Given the description of an element on the screen output the (x, y) to click on. 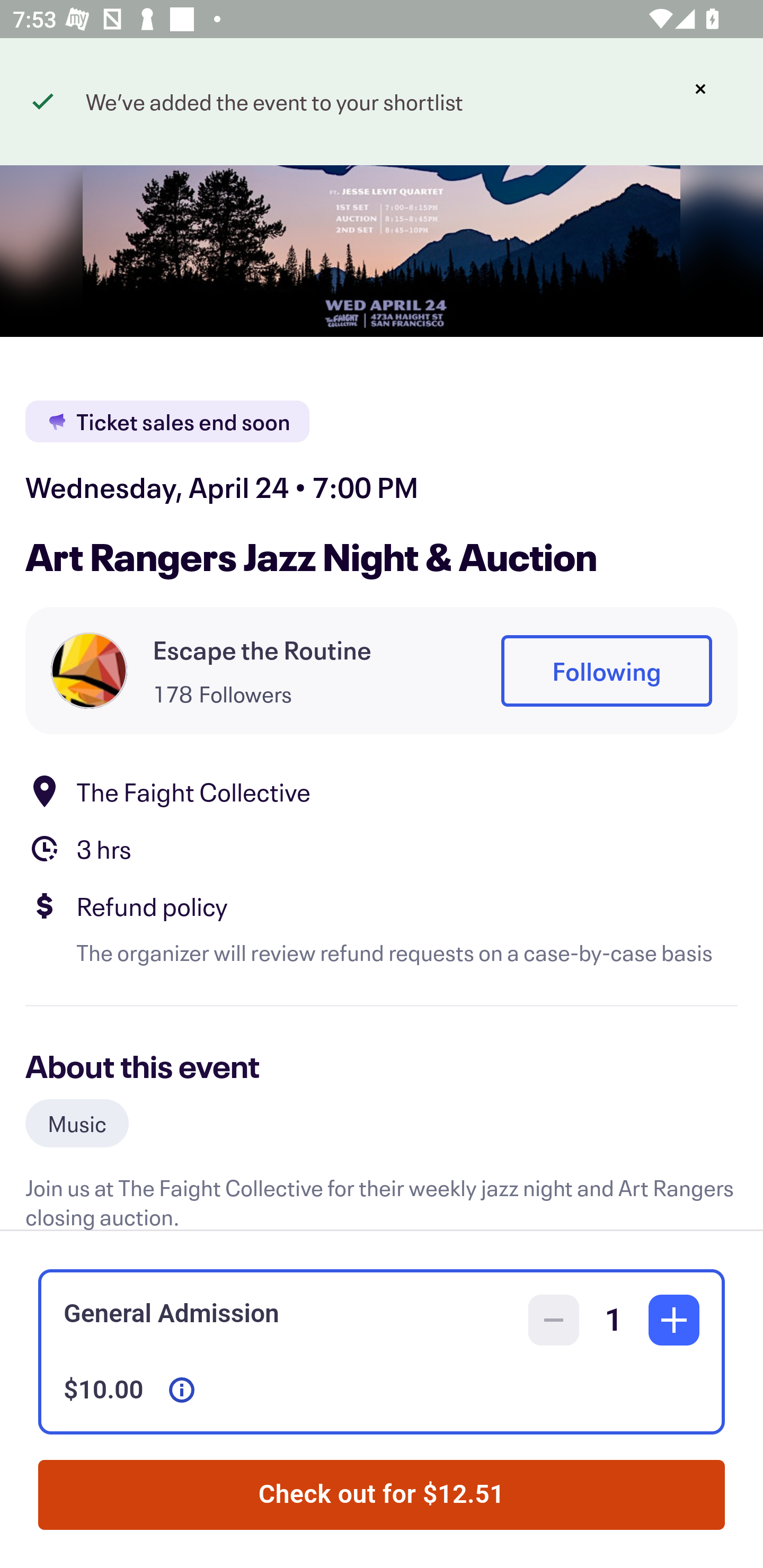
Dismiss notification (700, 89)
Back (57, 94)
Escape the Routine (262, 649)
Organizer profile picture (89, 669)
Following (606, 670)
Location The Faight Collective (381, 790)
Decrease (553, 1320)
Increase (673, 1320)
Show more information (181, 1389)
Check out for $12.51 (381, 1494)
